Given the description of an element on the screen output the (x, y) to click on. 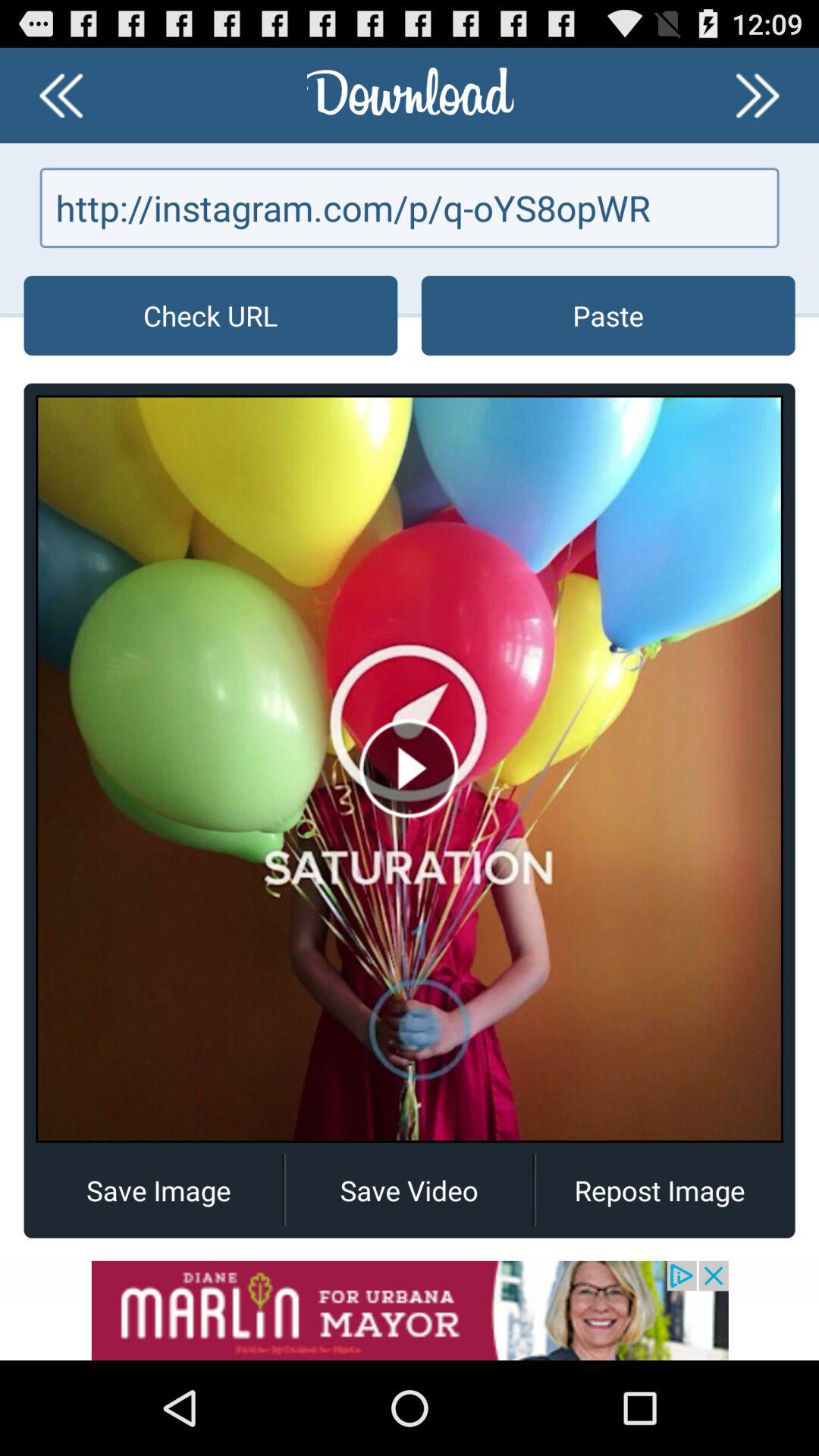
advertisement (409, 1310)
